Given the description of an element on the screen output the (x, y) to click on. 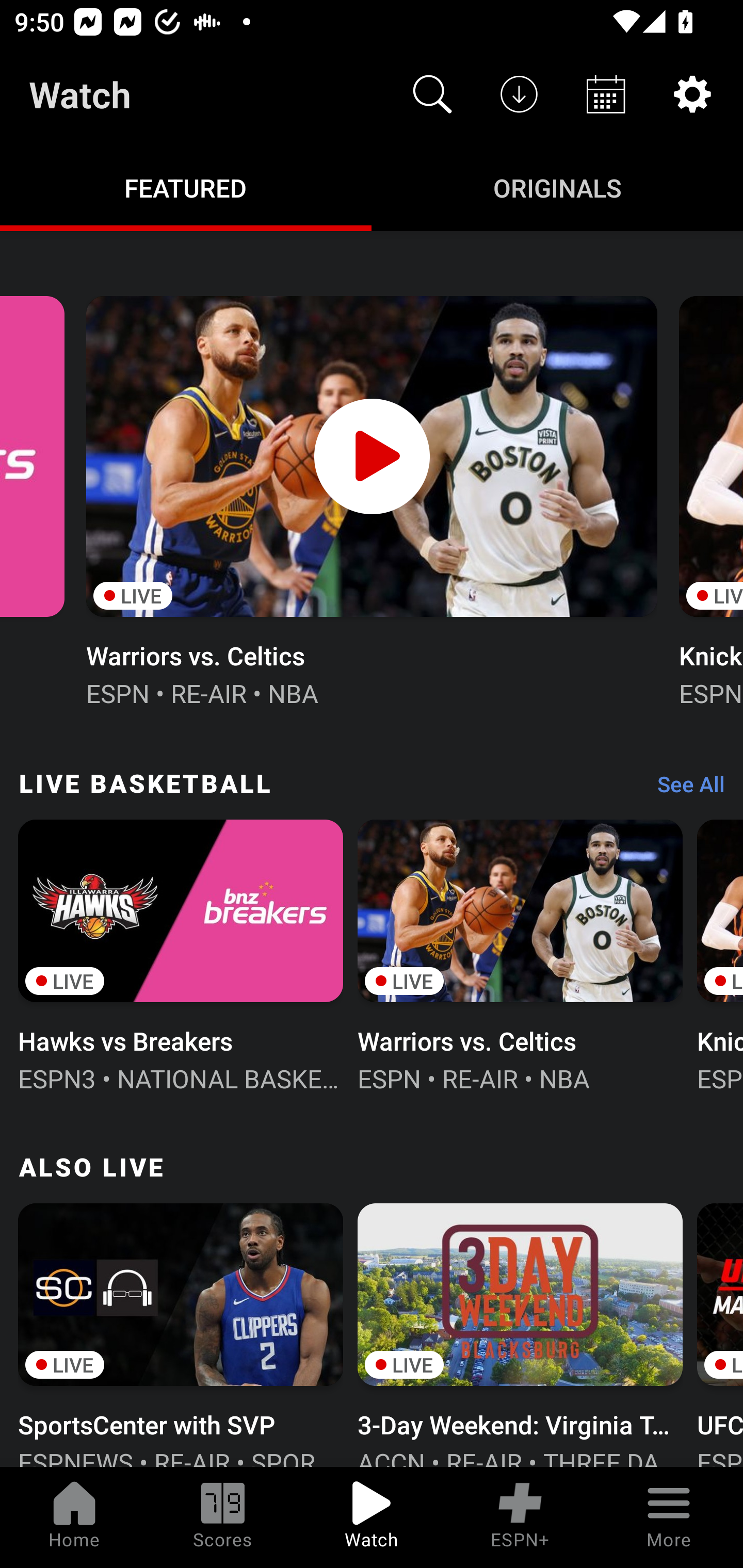
Search (432, 93)
Downloads (518, 93)
Schedule (605, 93)
Settings (692, 93)
Originals ORIGINALS (557, 187)
 LIVE Warriors vs. Celtics ESPN • RE-AIR • NBA (371, 499)
See All (683, 788)
LIVE Warriors vs. Celtics ESPN • RE-AIR • NBA (519, 954)
Home (74, 1517)
Scores (222, 1517)
ESPN+ (519, 1517)
More (668, 1517)
